Given the description of an element on the screen output the (x, y) to click on. 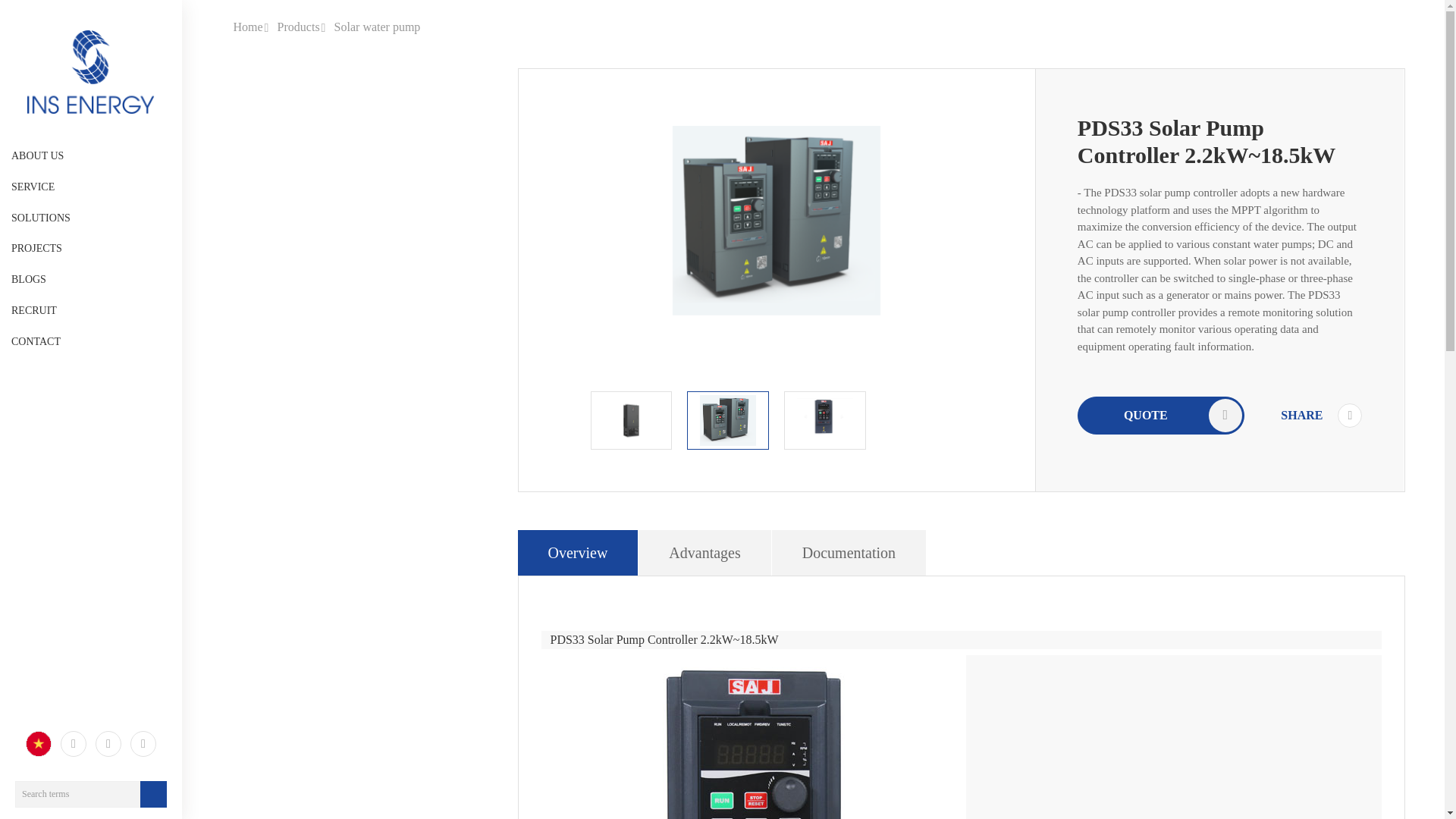
Projects (90, 248)
Contact (90, 342)
Service (90, 187)
ABOUT US (90, 156)
Site Search (90, 794)
PROJECTS (90, 248)
Products (299, 27)
BLOGS (90, 279)
Overview (577, 552)
Solar water pump (377, 27)
Blogs (90, 279)
SOLUTIONS (90, 218)
Home (247, 27)
Recruit (90, 310)
QUOTE (1160, 414)
